Given the description of an element on the screen output the (x, y) to click on. 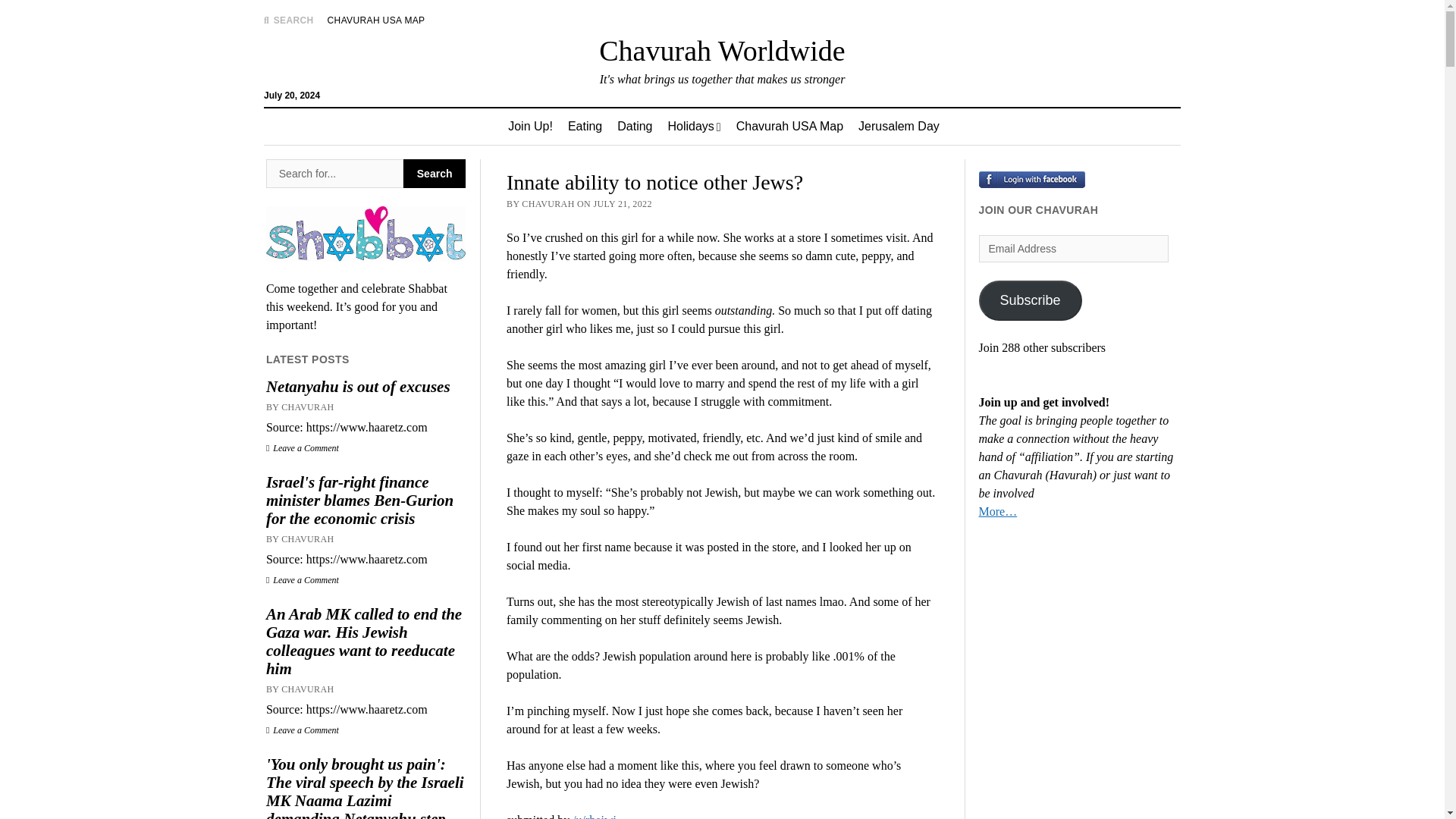
Leave a Comment (302, 729)
Netanyahu is out of excuses (365, 386)
Chavurah Worldwide (721, 50)
Jerusalem Day (898, 126)
Holidays (693, 126)
CHAVURAH USA MAP (376, 20)
Search (434, 173)
Chavurah USA Map (788, 126)
Search (434, 173)
Search (945, 129)
Search (434, 173)
Leave a Comment (302, 448)
Dating (634, 126)
